Given the description of an element on the screen output the (x, y) to click on. 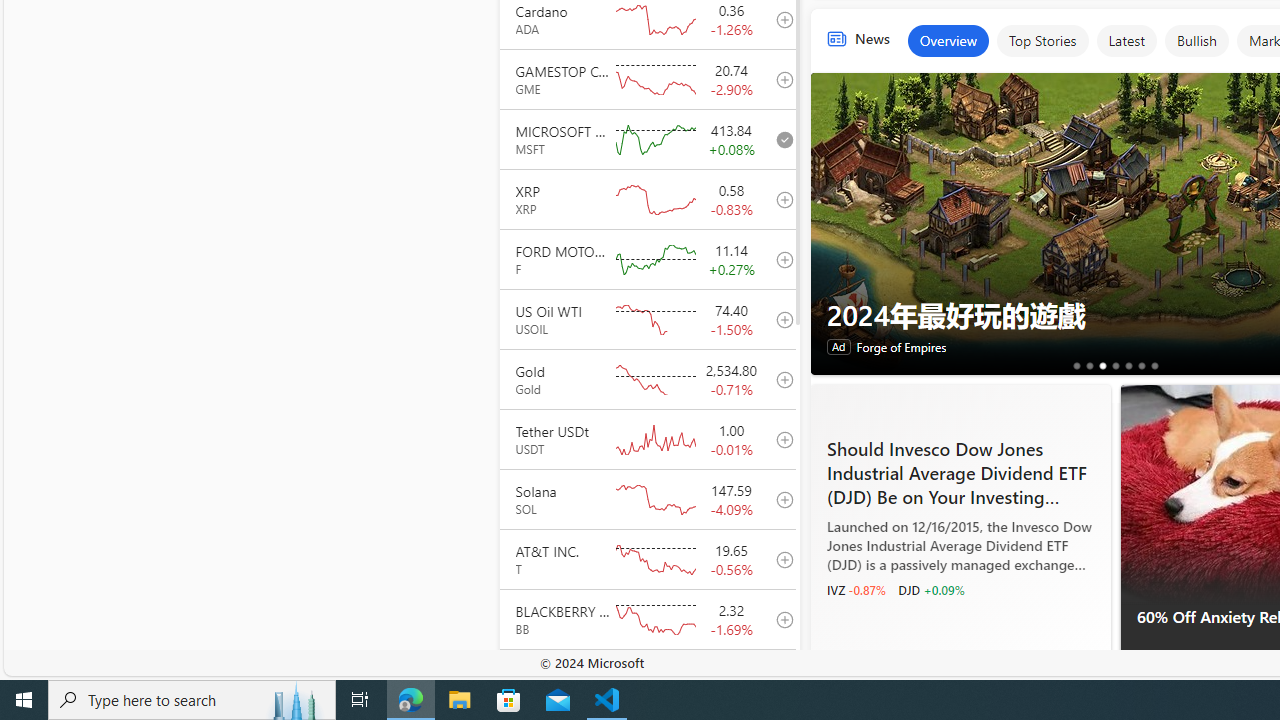
remove from your watchlist (779, 138)
Bullish (1195, 40)
Overview (948, 40)
DJD +0.09% (931, 589)
IVZ -0.87% (855, 589)
